Given the description of an element on the screen output the (x, y) to click on. 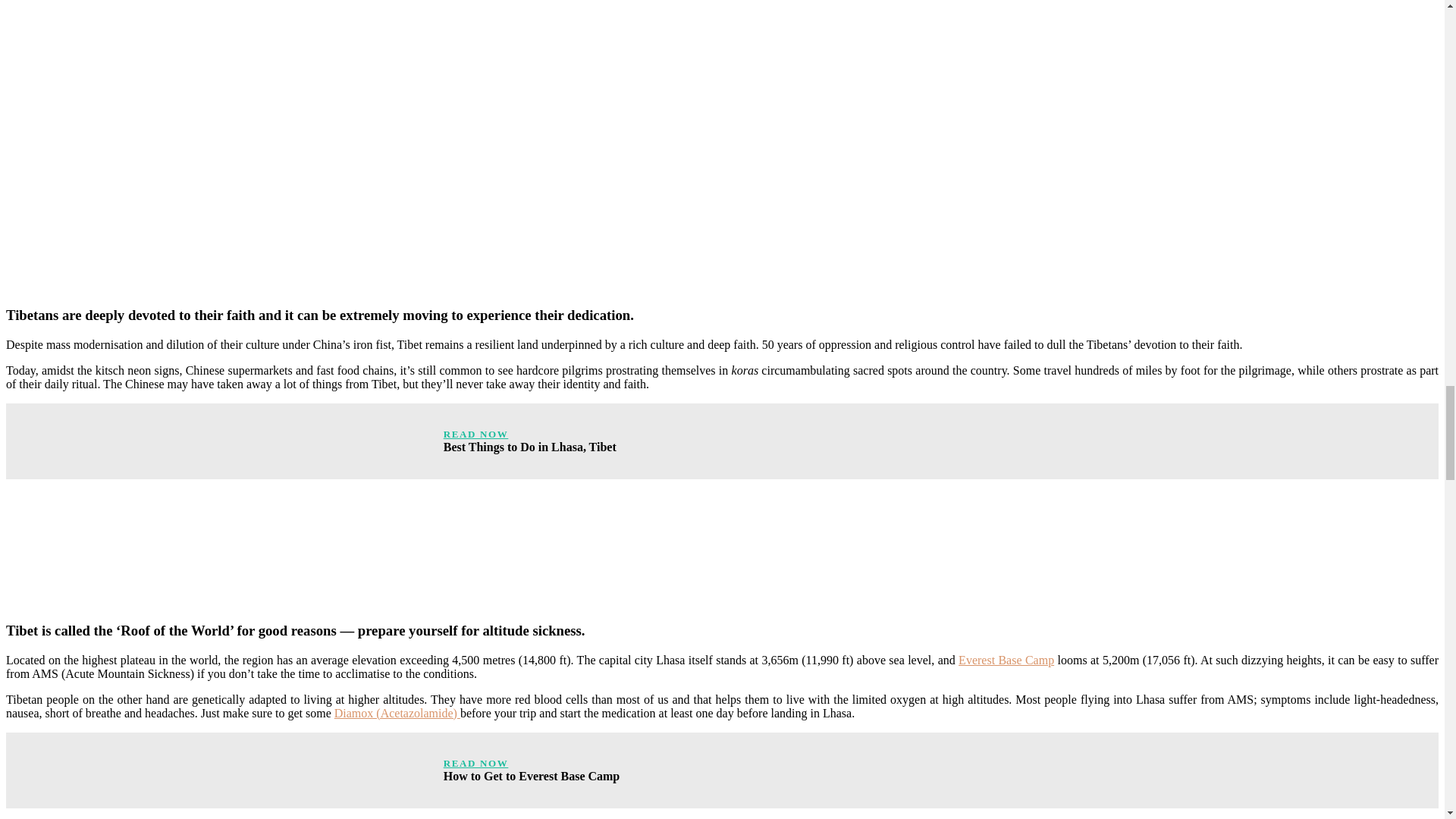
Everest Base Camp (1006, 659)
